Given the description of an element on the screen output the (x, y) to click on. 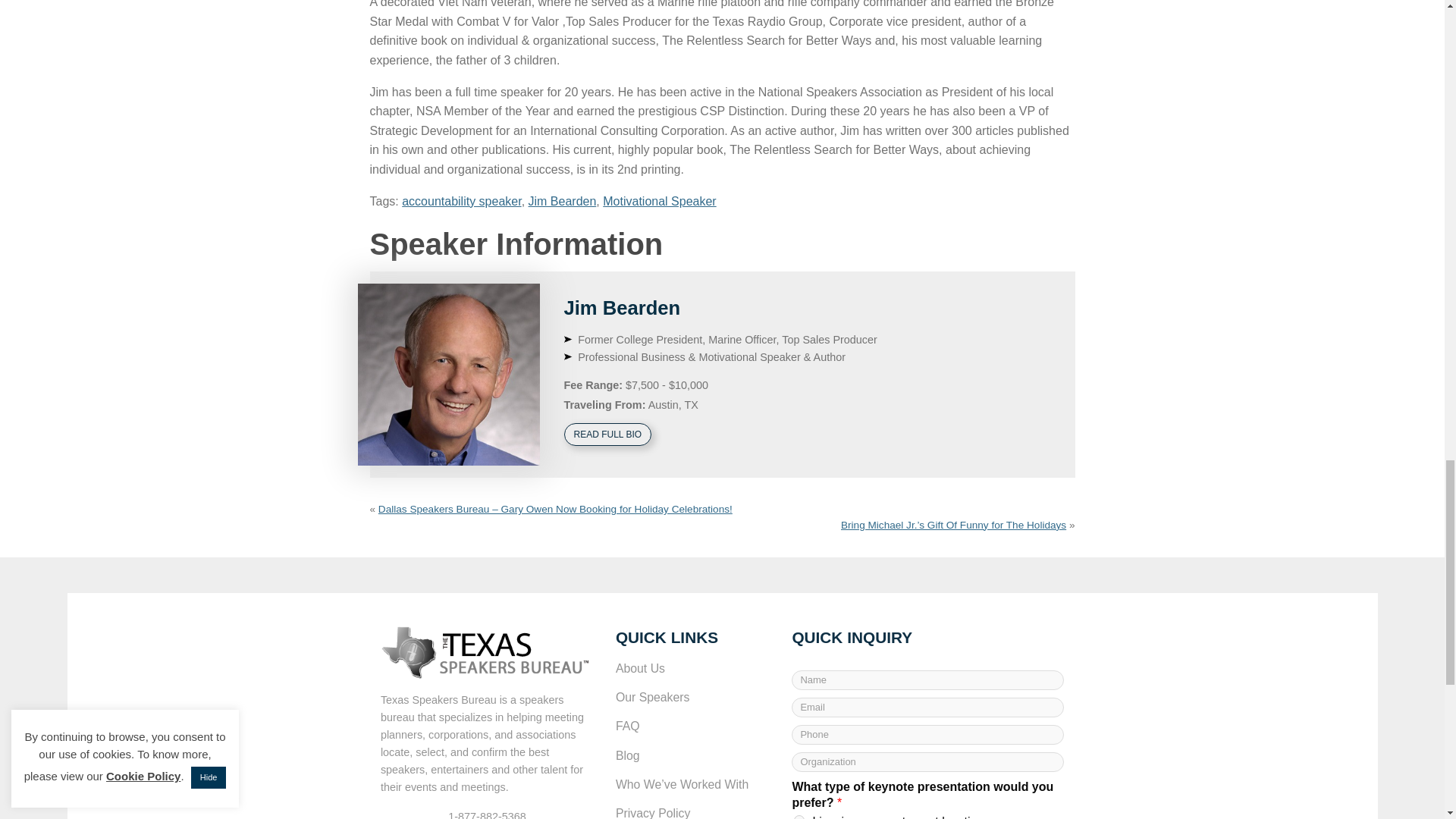
Jim Bearden (562, 201)
accountability speaker (461, 201)
Privacy Policy (692, 809)
Live, in-person at event location (799, 816)
Jim Bearden (622, 307)
Jim Bearden (449, 374)
Our Speakers (692, 697)
READ FULL BIO (610, 432)
FAQ (692, 726)
Austin, TX (672, 404)
Blog (692, 755)
About Us (692, 668)
READ FULL BIO (608, 434)
Motivational Speaker (659, 201)
1-877-882-5368 (486, 814)
